Given the description of an element on the screen output the (x, y) to click on. 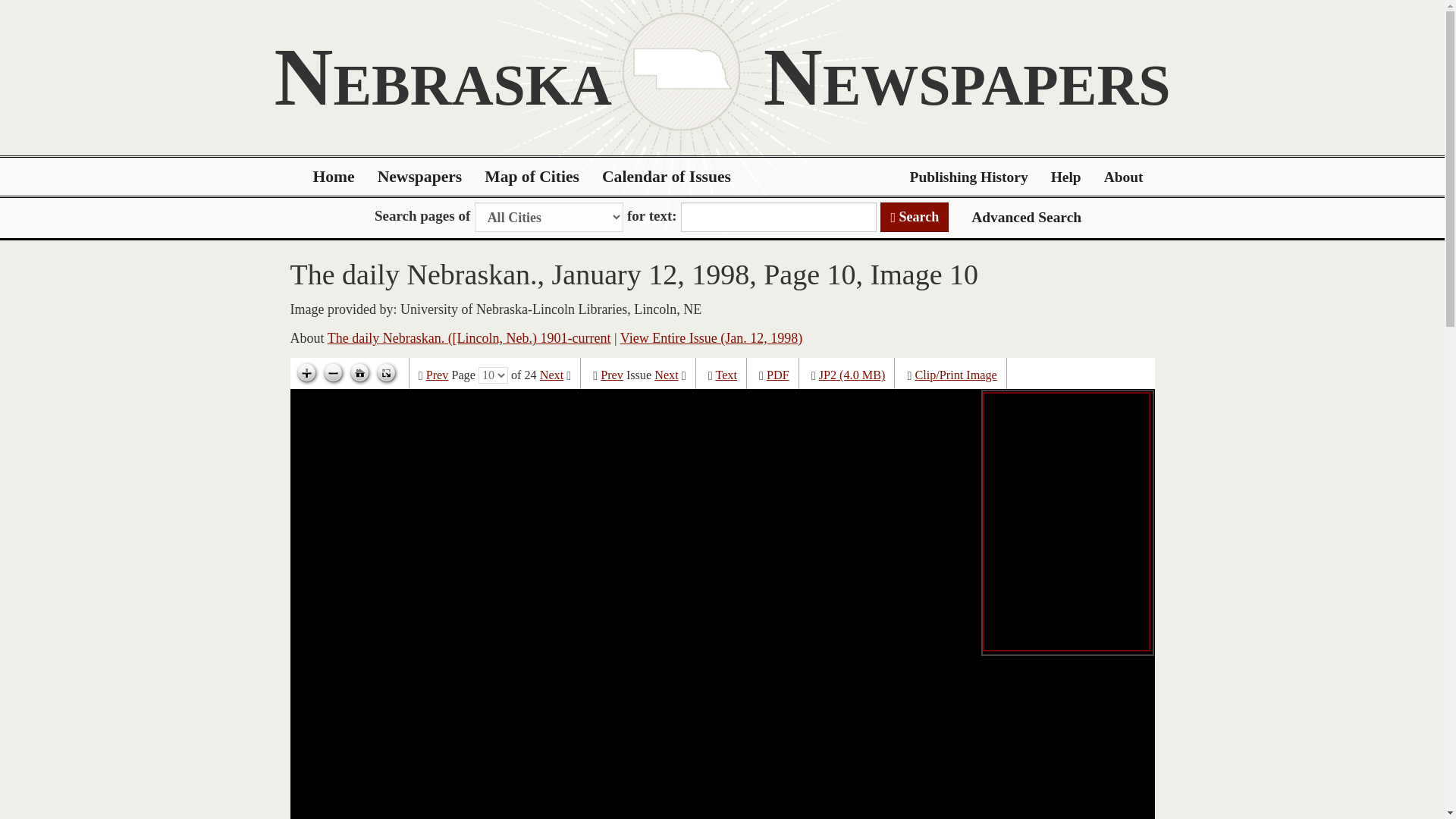
Prev (437, 375)
Text (725, 375)
Home (333, 176)
Toggle full page (385, 373)
Prev (611, 375)
Help (1066, 176)
Zoom out (333, 373)
About (1123, 176)
Publishing History (968, 176)
Go home (359, 373)
